Given the description of an element on the screen output the (x, y) to click on. 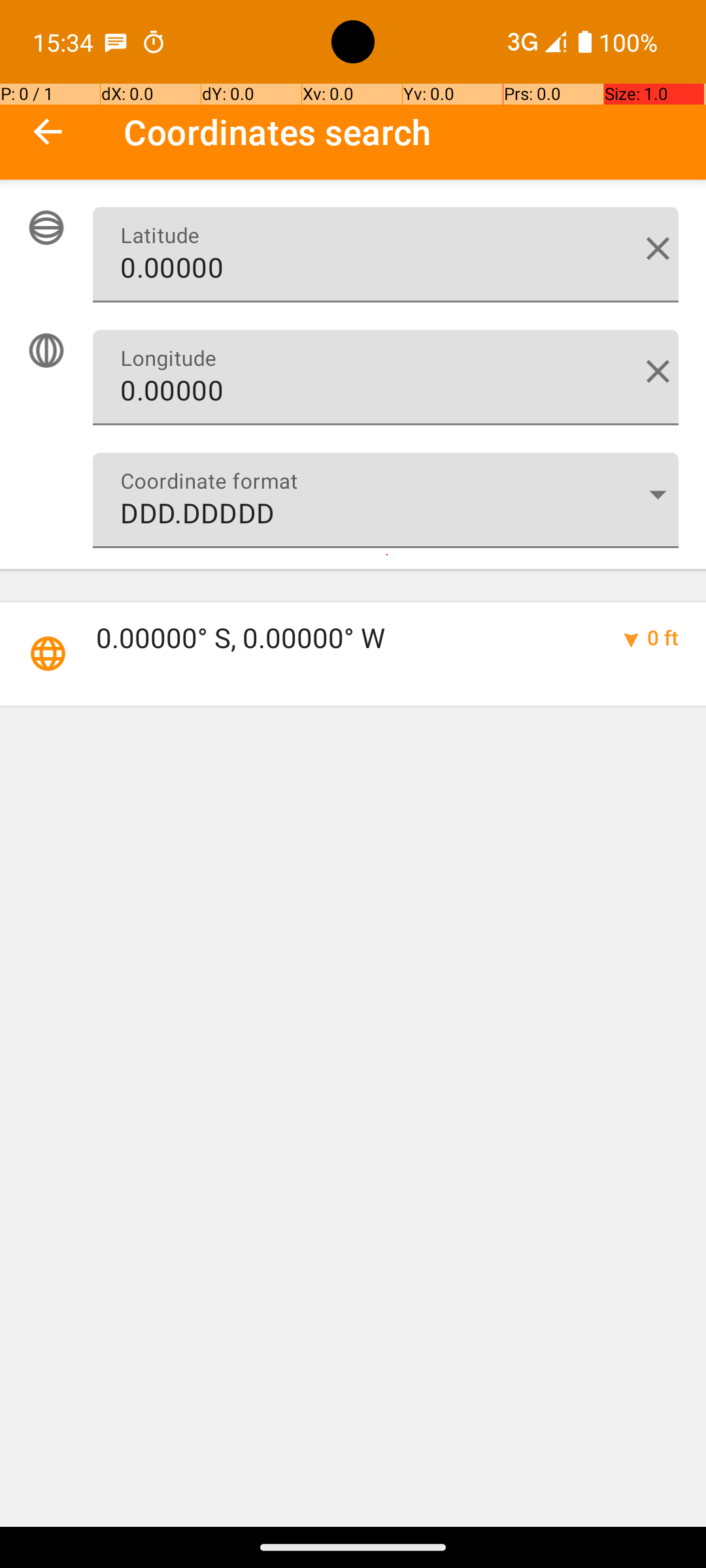
Coordinates search Element type: android.widget.TextView (414, 131)
0.00000 Element type: android.widget.EditText (385, 254)
DDD.DDDDD Element type: android.widget.EditText (385, 500)
Coordinate format Element type: android.widget.ImageButton (657, 493)
0.00000° S, 0.00000° W Element type: android.widget.TextView (344, 636)
0 ft Element type: android.widget.TextView (662, 637)
